Given the description of an element on the screen output the (x, y) to click on. 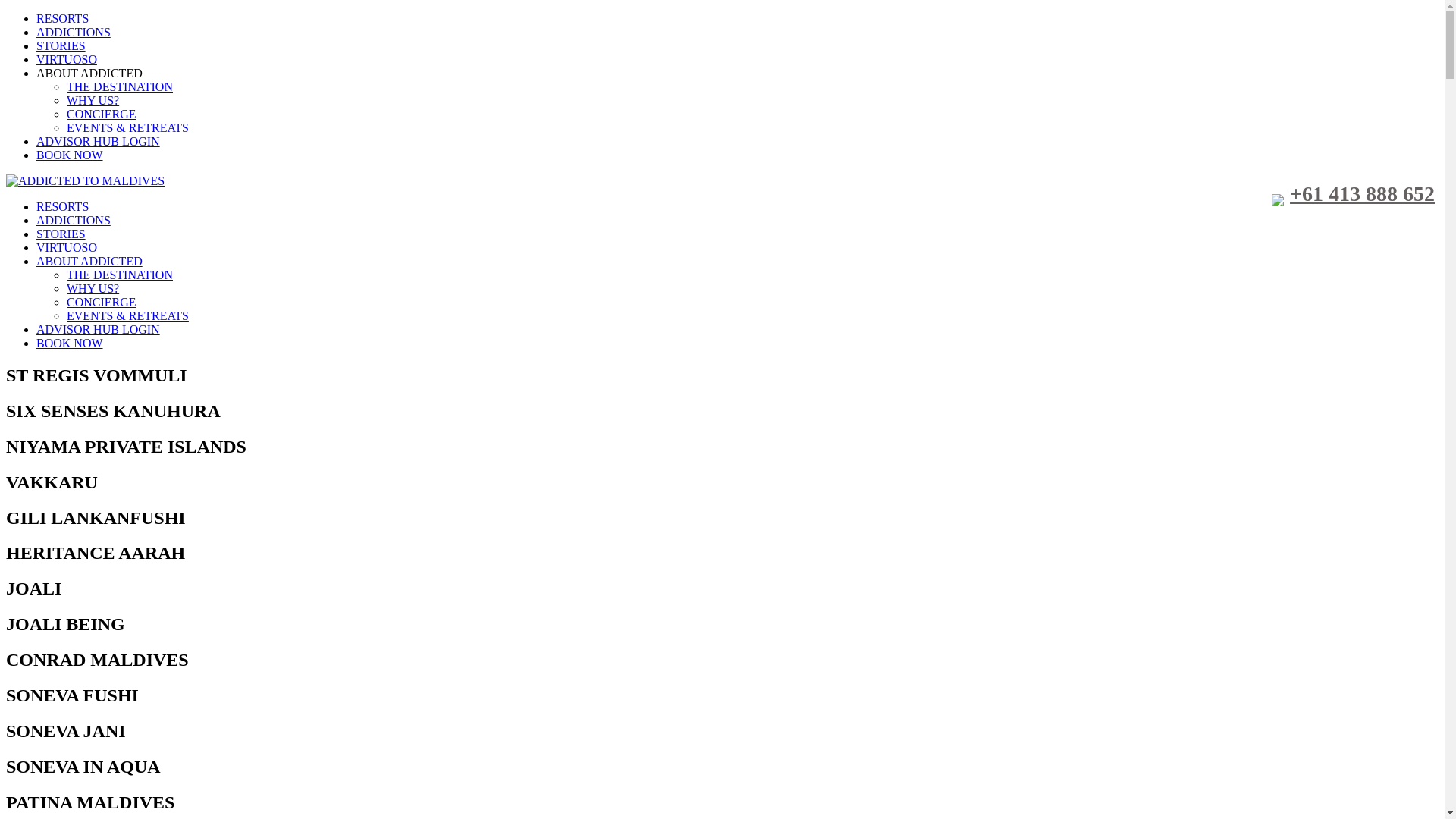
WHY US? Element type: text (92, 100)
STORIES Element type: text (60, 45)
ADVISOR HUB LOGIN Element type: text (98, 140)
EVENTS & RETREATS Element type: text (127, 315)
RESORTS Element type: text (62, 206)
ABOUT ADDICTED Element type: text (89, 260)
ADDICTIONS Element type: text (73, 219)
RESORTS Element type: text (62, 18)
BOOK NOW Element type: text (69, 154)
BOOK NOW Element type: text (69, 342)
ADDICTIONS Element type: text (73, 31)
THE DESTINATION Element type: text (119, 274)
ADVISOR HUB LOGIN Element type: text (98, 329)
CONCIERGE Element type: text (101, 113)
EVENTS & RETREATS Element type: text (127, 127)
WHY US? Element type: text (92, 288)
THE DESTINATION Element type: text (119, 86)
+61 413 888 652 Element type: text (1352, 193)
ABOUT ADDICTED Element type: text (89, 72)
VIRTUOSO Element type: text (66, 59)
STORIES Element type: text (60, 233)
CONCIERGE Element type: text (101, 301)
VIRTUOSO Element type: text (66, 247)
